Given the description of an element on the screen output the (x, y) to click on. 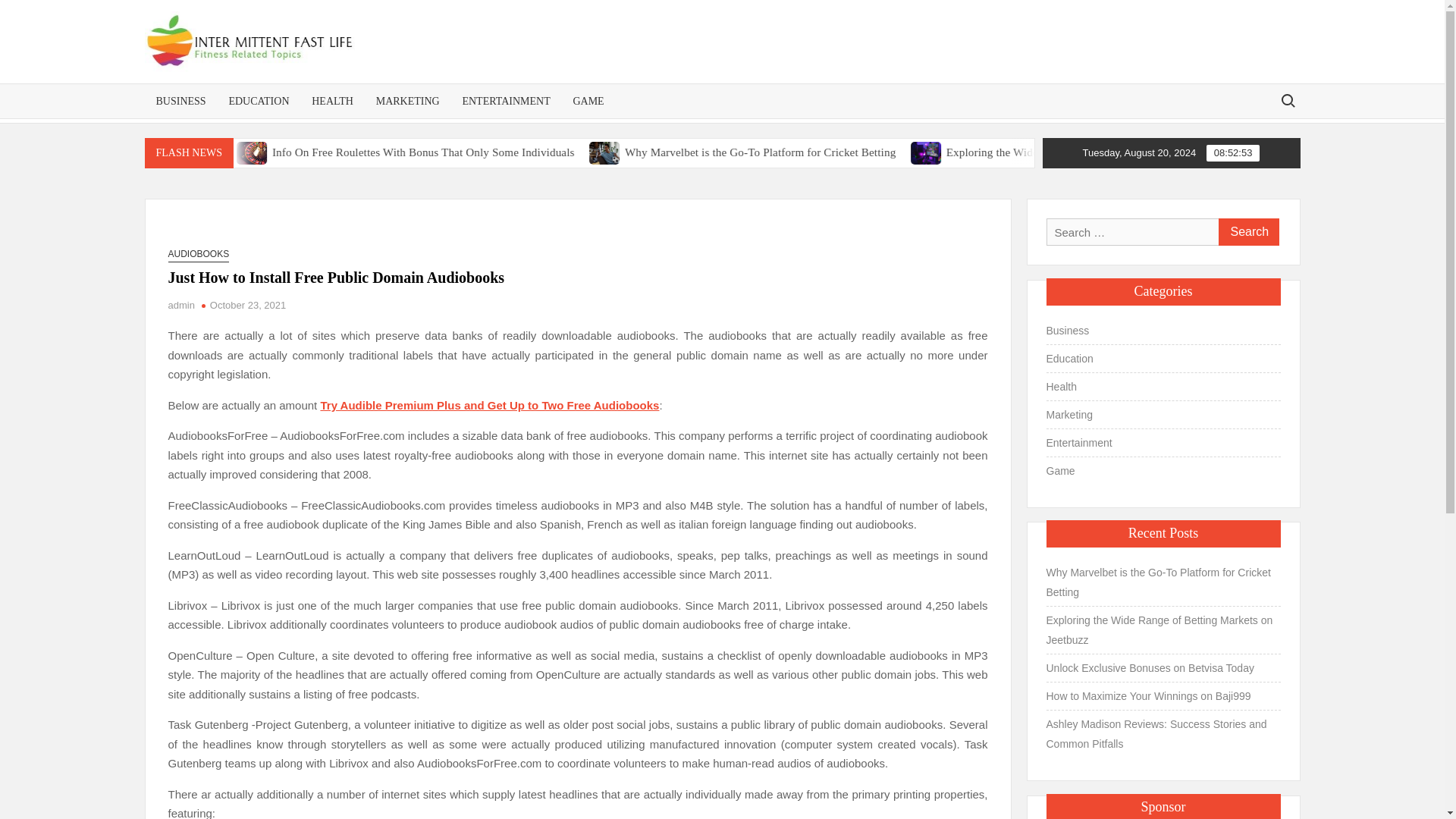
Search (1247, 231)
Info On Free Roulettes With Bonus That Only Some Individuals (552, 152)
Why Marvelbet is the Go-To Platform for Cricket Betting (882, 152)
Info On Free Roulettes With Bonus That Only Some Individuals (597, 152)
Why Marvelbet is the Go-To Platform for Cricket Betting (929, 152)
HEALTH (332, 100)
Search for: (1287, 100)
Search (1247, 231)
MARKETING (408, 100)
Link Slot Gacor Demystified Insider Insights for Success (268, 152)
